Given the description of an element on the screen output the (x, y) to click on. 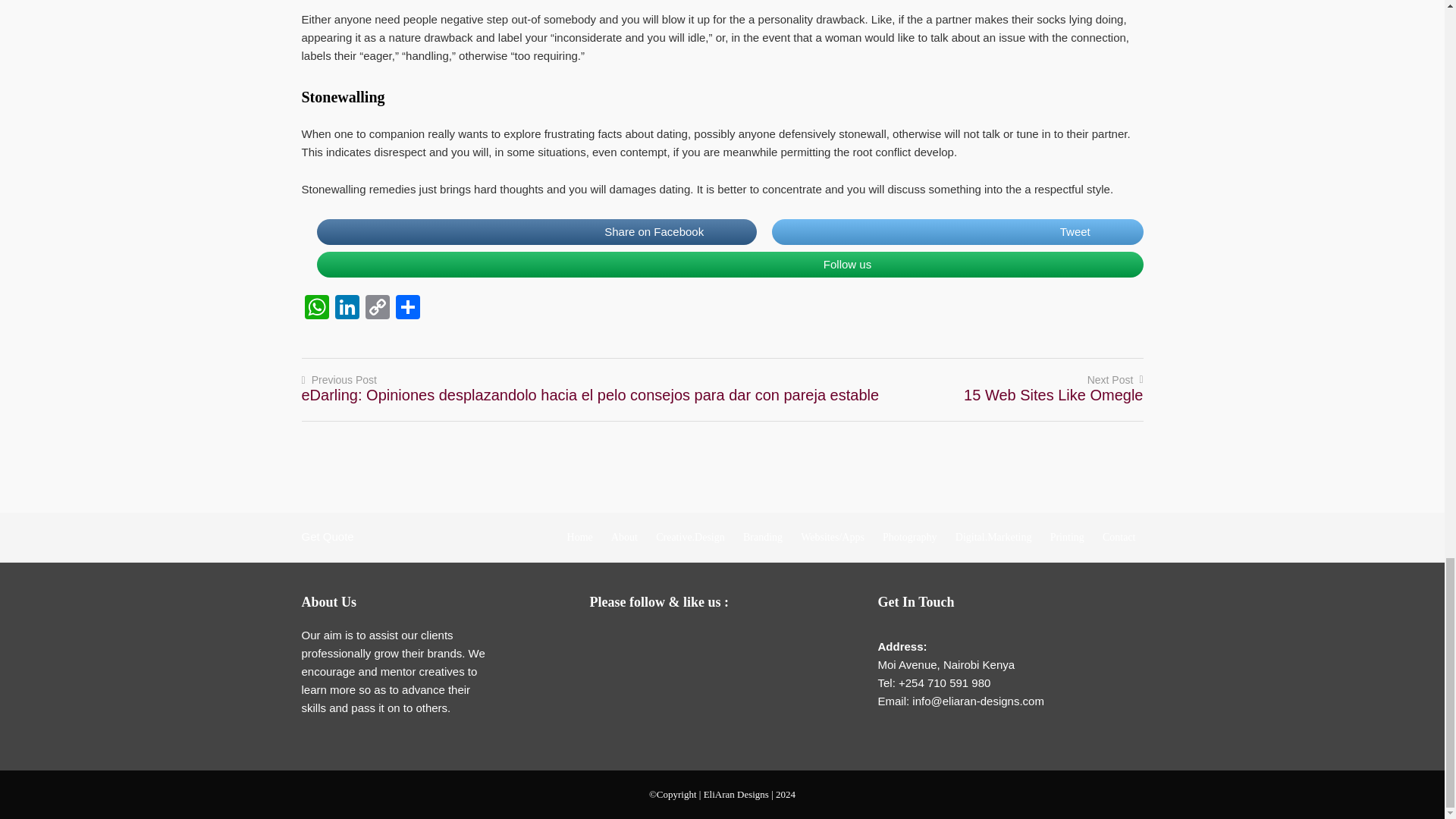
Follow by Email (606, 640)
Twitter (667, 640)
LinkedIn (698, 640)
WhatsApp (316, 308)
Copy Link (377, 308)
Instagram (728, 640)
LinkedIn (346, 308)
Facebook (637, 640)
